Given the description of an element on the screen output the (x, y) to click on. 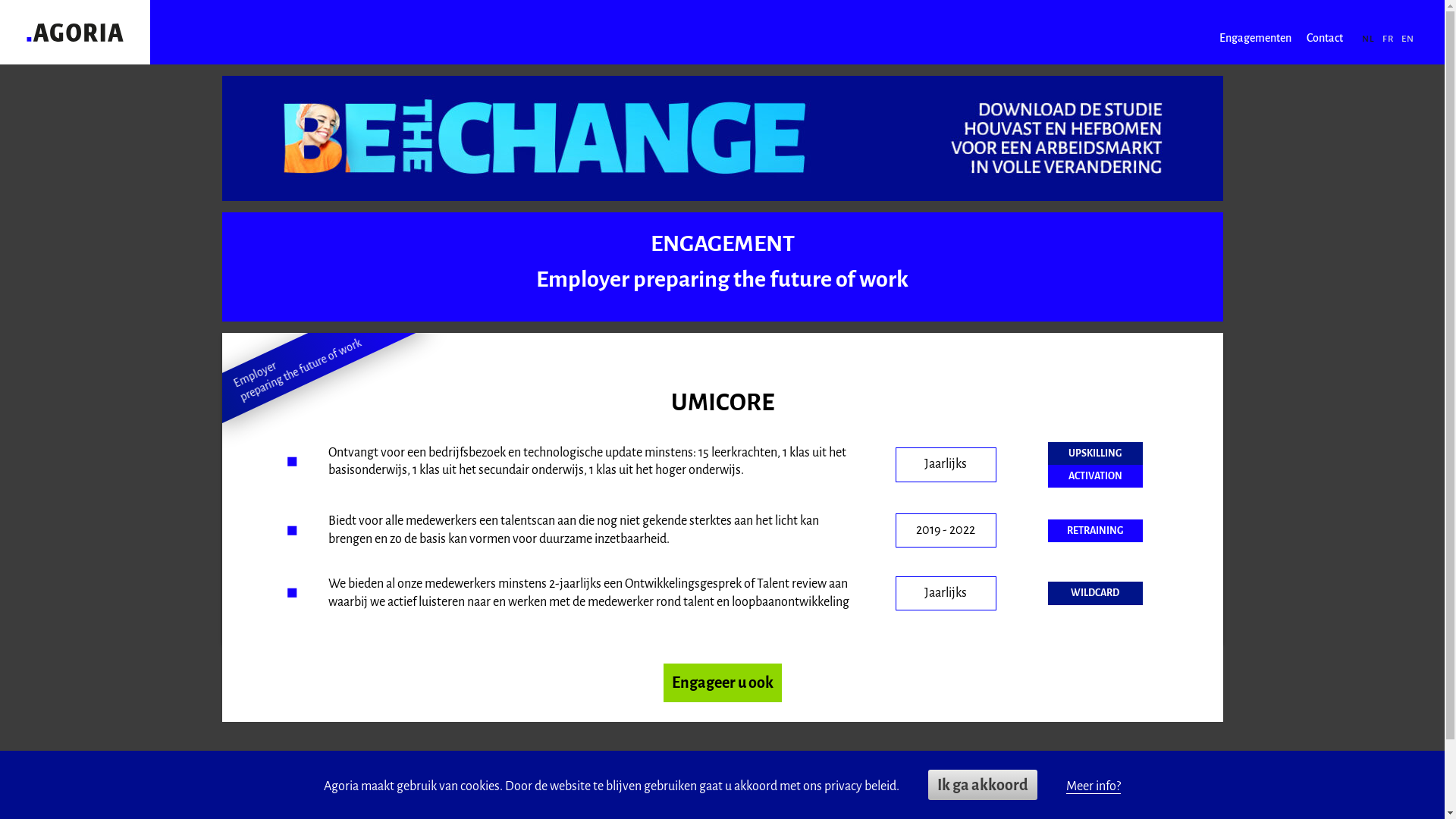
ACTIVATION Element type: text (1095, 475)
Engagementen Element type: text (1255, 37)
Engageer u ook Element type: text (721, 683)
FR Element type: text (1387, 39)
UPSKILLING Element type: text (1095, 453)
Meer info? Element type: text (1093, 786)
Agoria: Be the change Element type: hover (75, 32)
Contact Element type: text (1324, 37)
EN Element type: text (1407, 39)
WILDCARD Element type: text (1095, 592)
RETRAINING Element type: text (1095, 530)
Ik ga akkoord Element type: text (982, 784)
NL Element type: text (1368, 39)
